Given the description of an element on the screen output the (x, y) to click on. 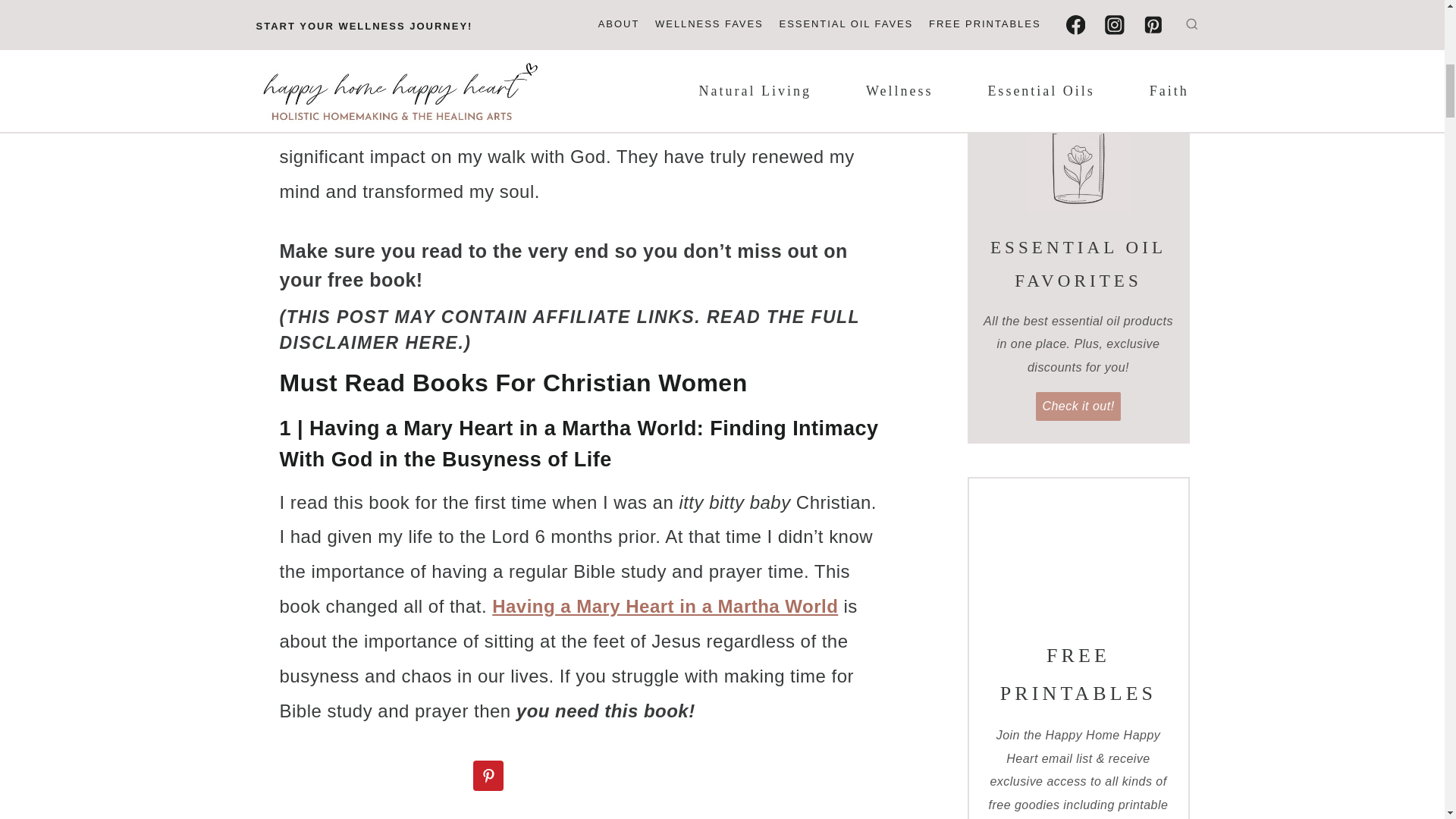
Having a Mary Heart in a Martha World (665, 606)
